Given the description of an element on the screen output the (x, y) to click on. 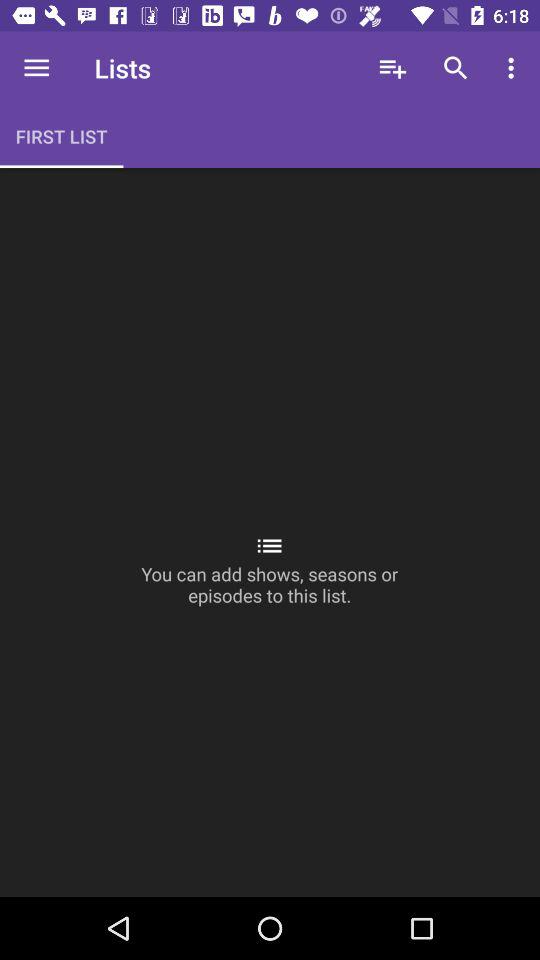
turn off the icon to the left of lists icon (36, 68)
